Given the description of an element on the screen output the (x, y) to click on. 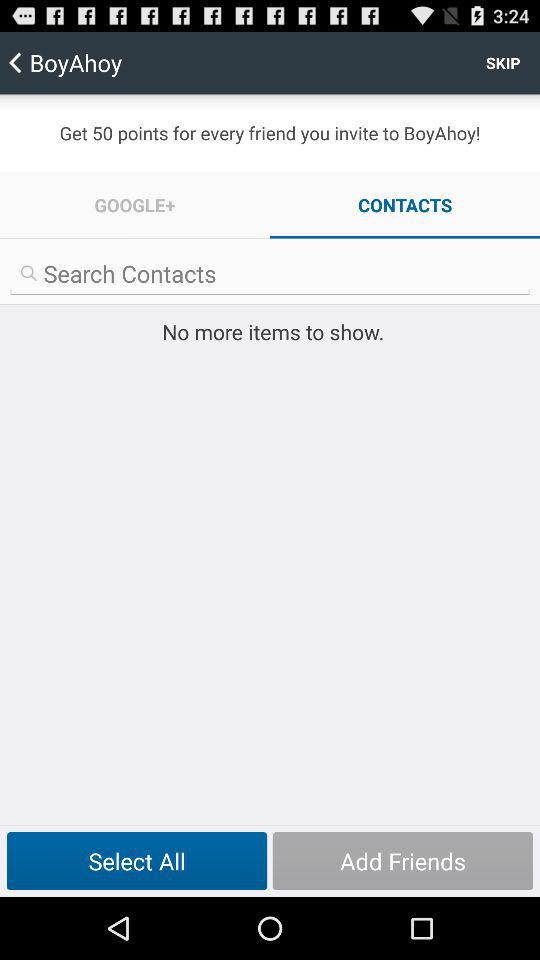
scroll until skip (503, 62)
